Given the description of an element on the screen output the (x, y) to click on. 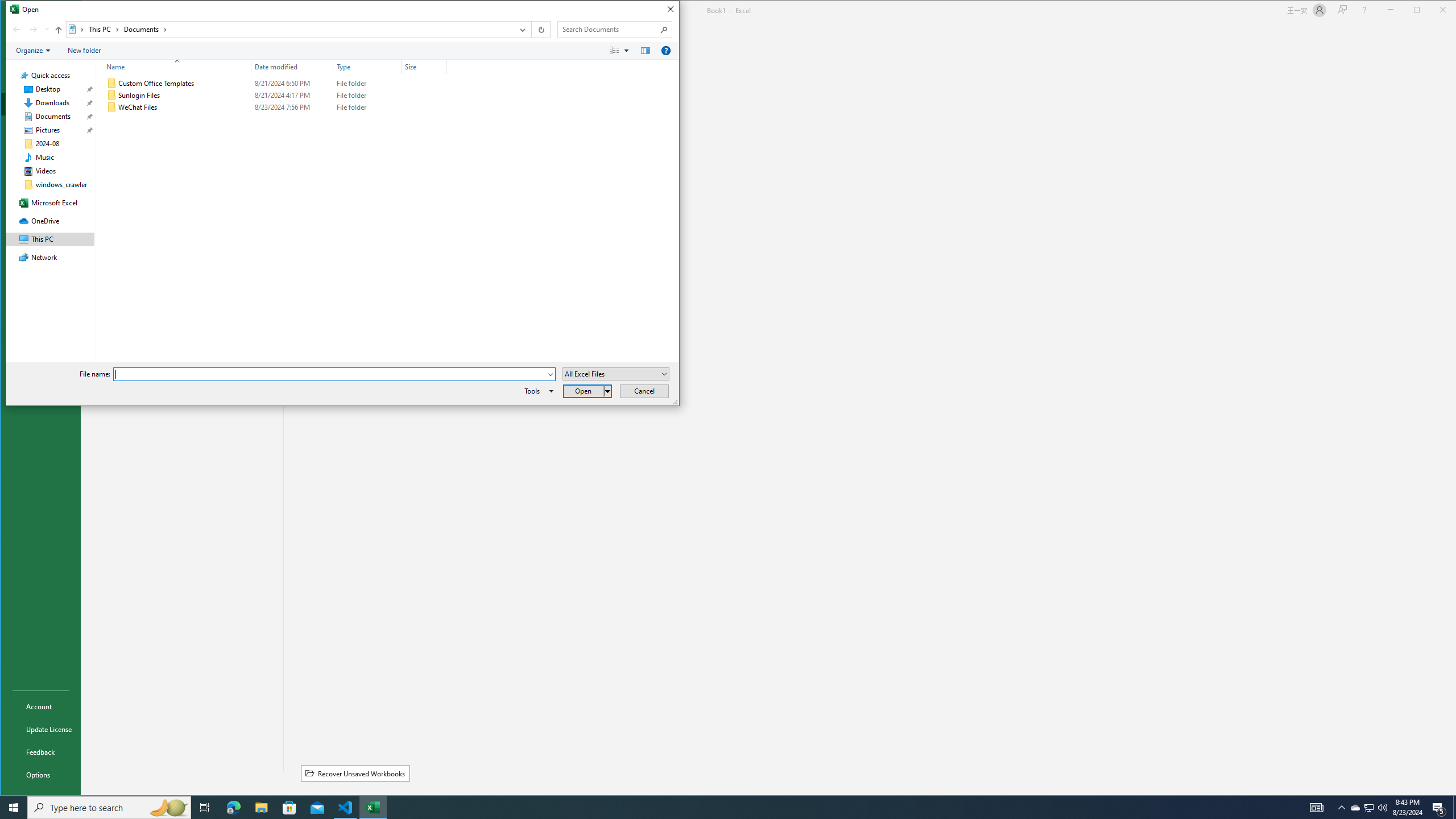
Running applications (717, 807)
Search highlights icon opens search home window (167, 807)
Account (40, 706)
Date modified (292, 107)
Update License (40, 728)
Search Box (609, 29)
Name (183, 107)
All locations (75, 29)
Preview pane (645, 50)
System (11, 11)
Documents (145, 29)
Size (423, 107)
File Explorer (261, 807)
Views (621, 50)
This PC (103, 29)
